Given the description of an element on the screen output the (x, y) to click on. 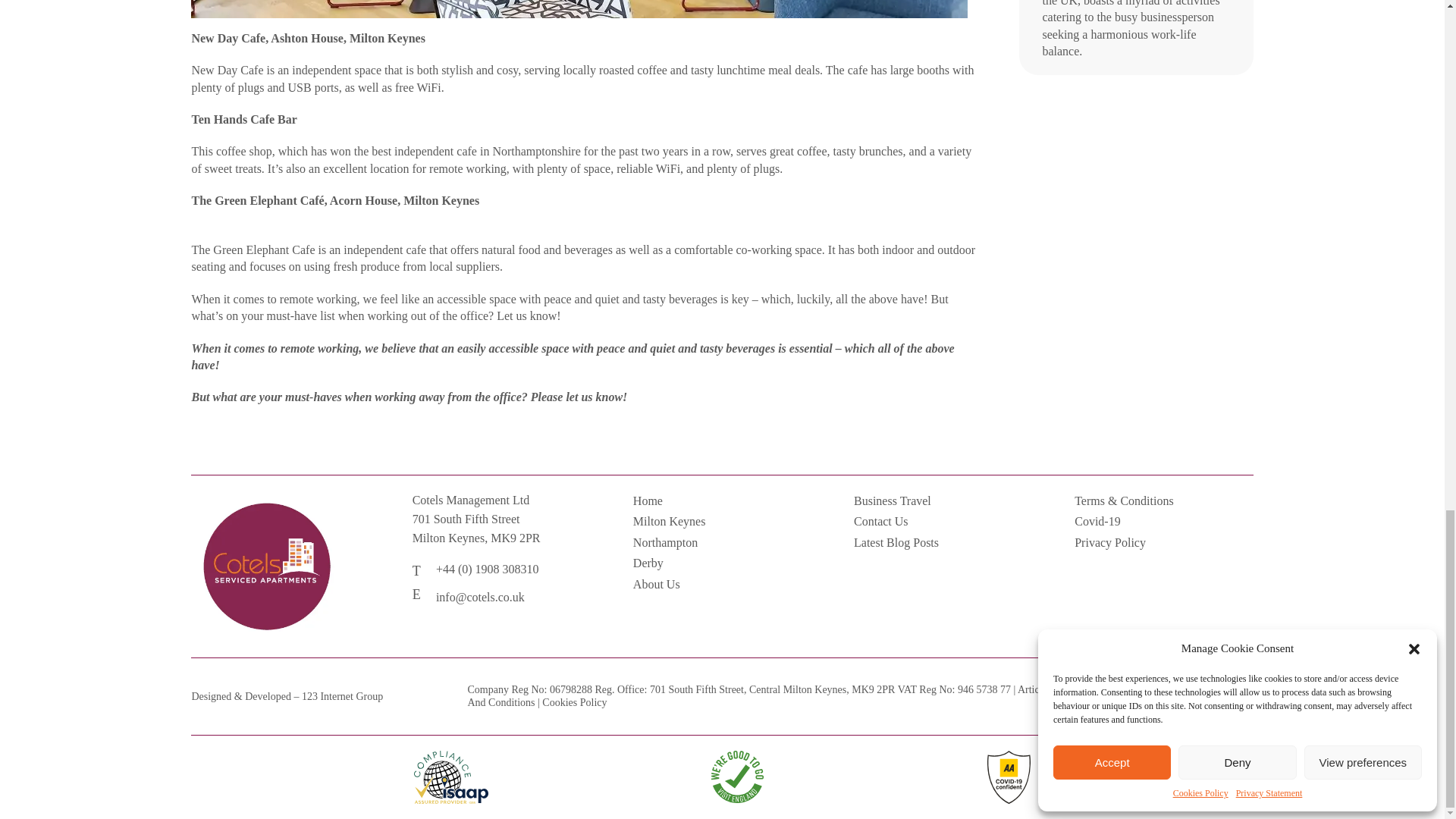
New Day Cafe, Ashton House, Milton Keynes (307, 38)
